Given the description of an element on the screen output the (x, y) to click on. 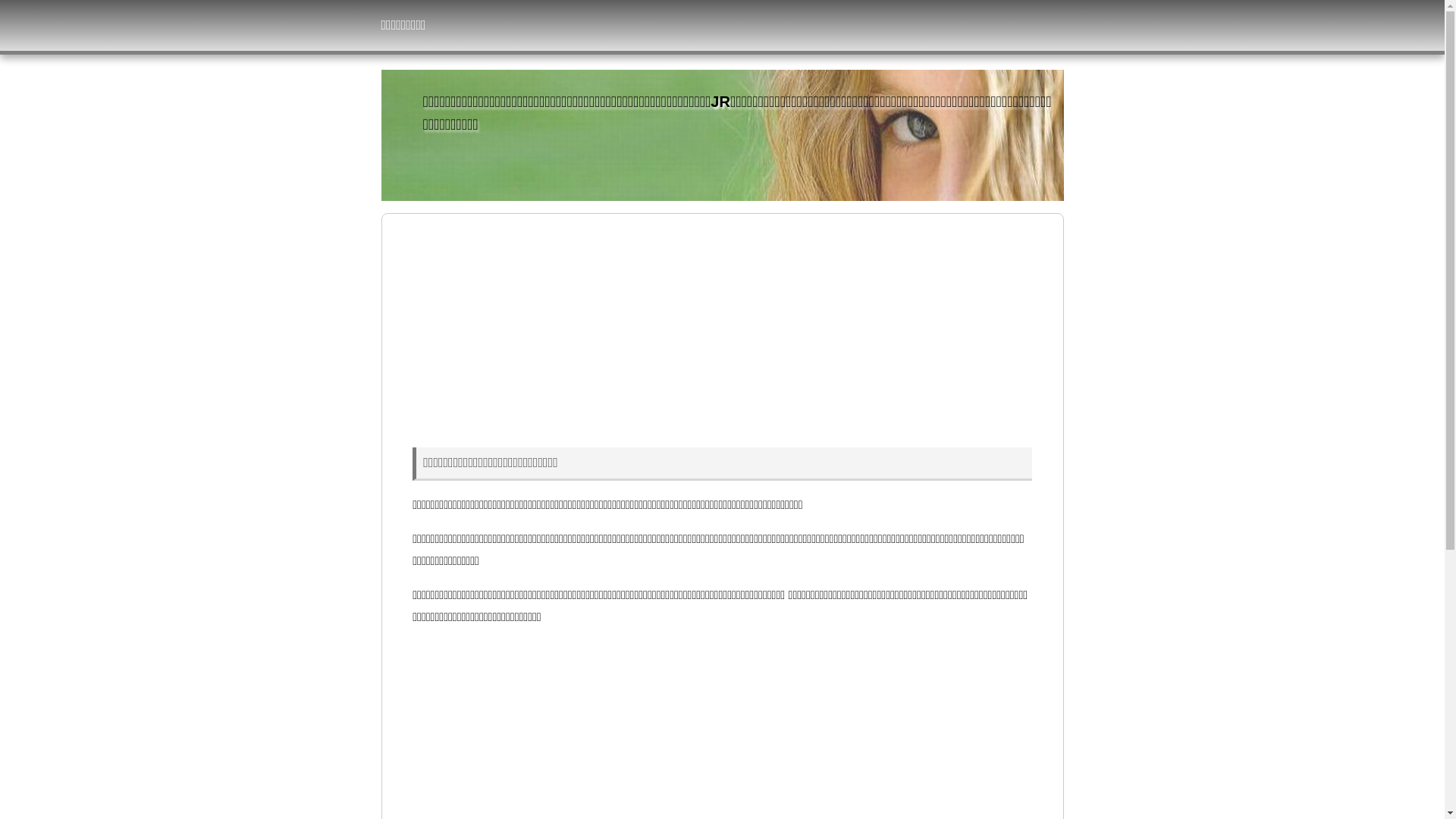
Advertisement Element type: hover (722, 327)
